Given the description of an element on the screen output the (x, y) to click on. 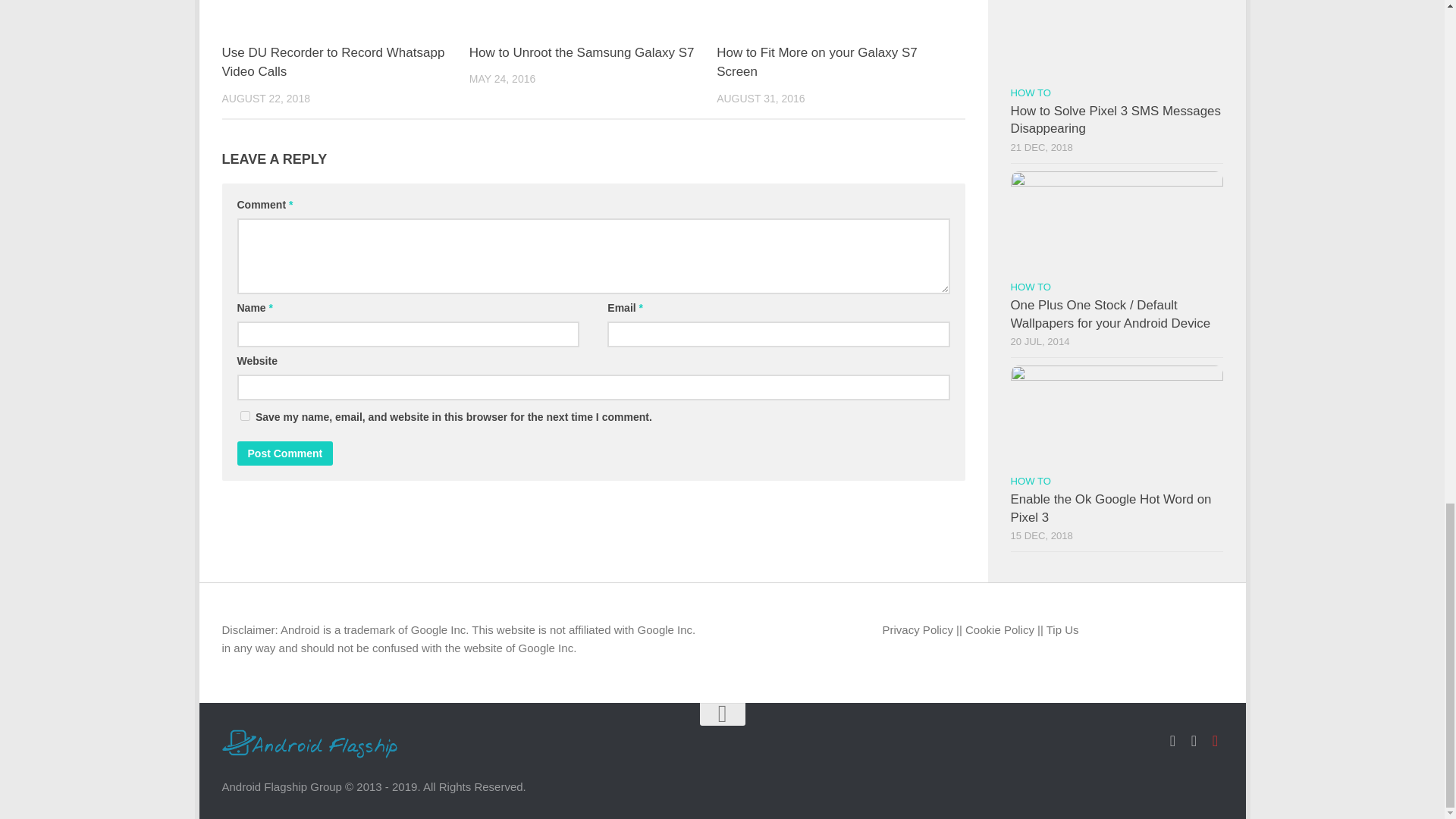
Use DU Recorder to Record Whatsapp Video Calls (332, 62)
How to Unroot the Samsung Galaxy S7 (581, 52)
yes (244, 415)
Permalink to Use DU Recorder to Record Whatsapp Video Calls (332, 62)
Permalink to How to Fit More on your Galaxy S7 Screen (816, 62)
How to Fit More on your Galaxy S7 Screen (816, 62)
Permalink to How to Unroot the Samsung Galaxy S7 (581, 52)
Post Comment (284, 453)
Post Comment (284, 453)
